Given the description of an element on the screen output the (x, y) to click on. 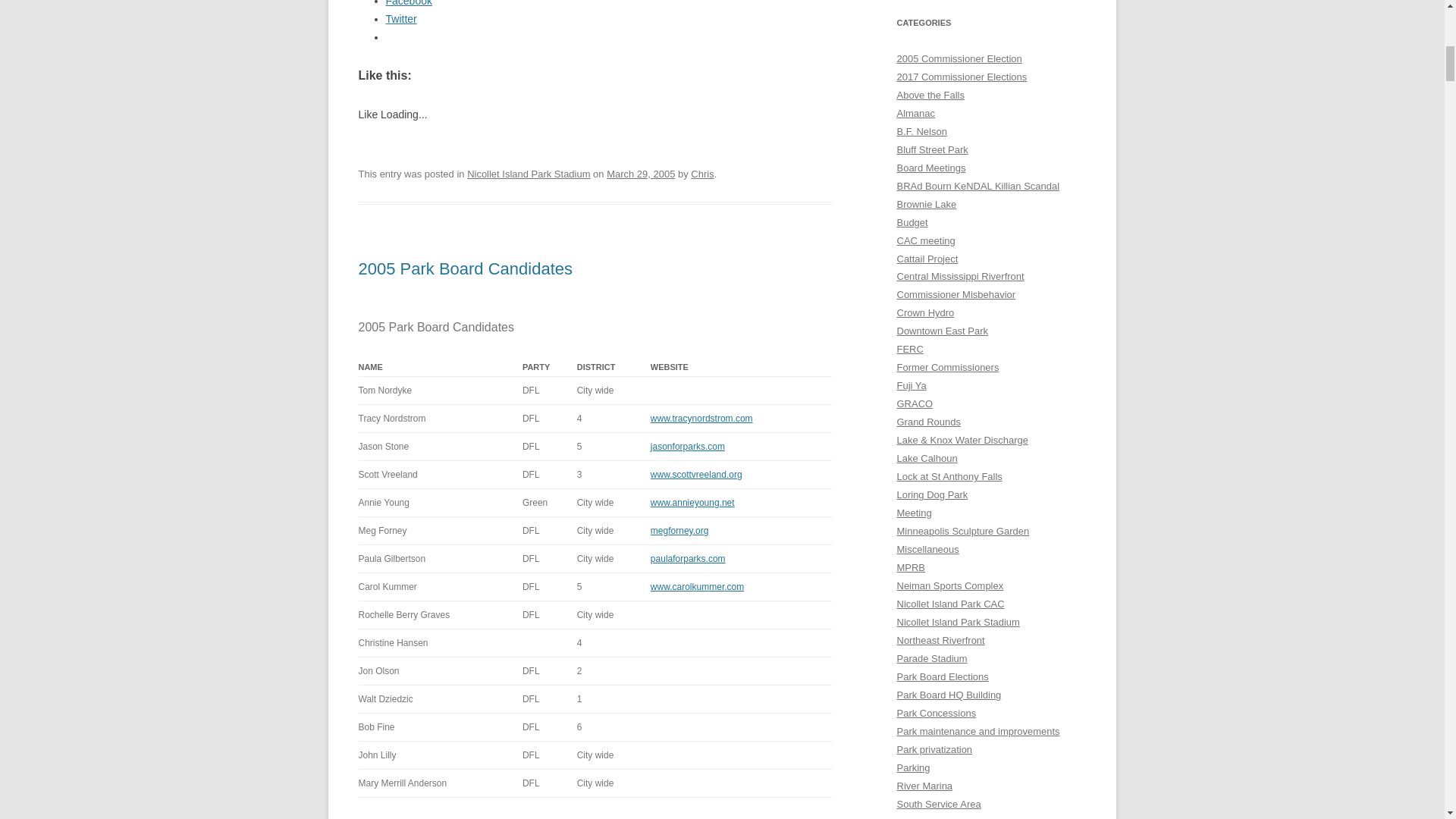
megforney.org (678, 530)
Click to share on Facebook (407, 3)
Chris (701, 173)
paulaforparks.com (687, 558)
Nicollet Island Park Stadium (528, 173)
7:03 pm (641, 173)
View all posts by Chris (701, 173)
Click to share on Twitter (400, 19)
www.annieyoung.net (692, 502)
jasonforparks.com (687, 446)
Twitter (400, 19)
2005 Park Board Candidates (465, 268)
www.carolkummer.com (697, 586)
www.scottvreeland.org (696, 474)
Facebook (407, 3)
